Given the description of an element on the screen output the (x, y) to click on. 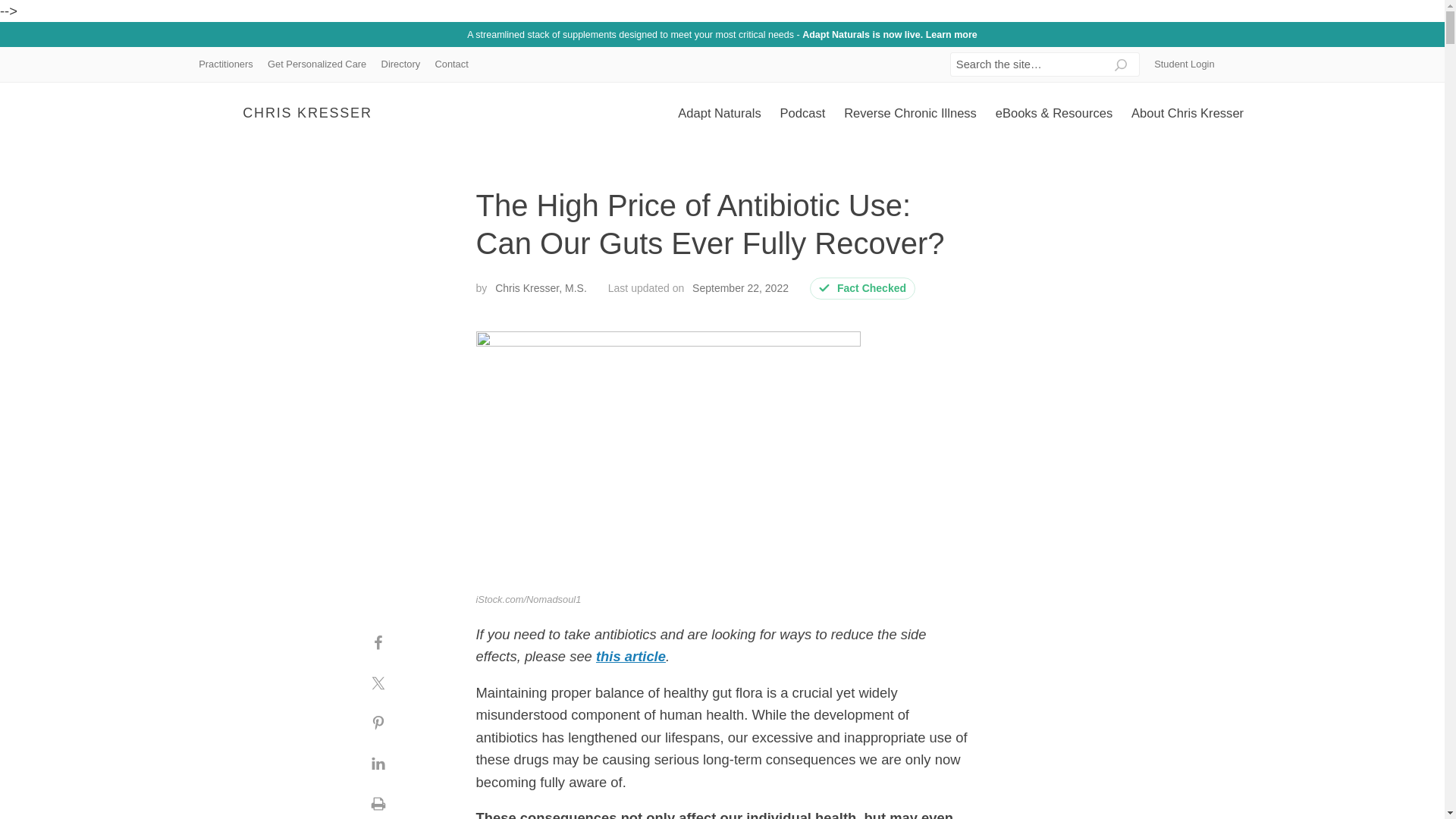
Print this Page (377, 801)
Contact (452, 63)
Share on Facebook (377, 643)
Reverse Chronic Illness (910, 113)
Adapt Naturals (719, 113)
this article (630, 656)
Share on LinkedIn (377, 763)
Search (1121, 58)
About Chris Kresser (1187, 113)
Share on Pinterest (377, 723)
